Given the description of an element on the screen output the (x, y) to click on. 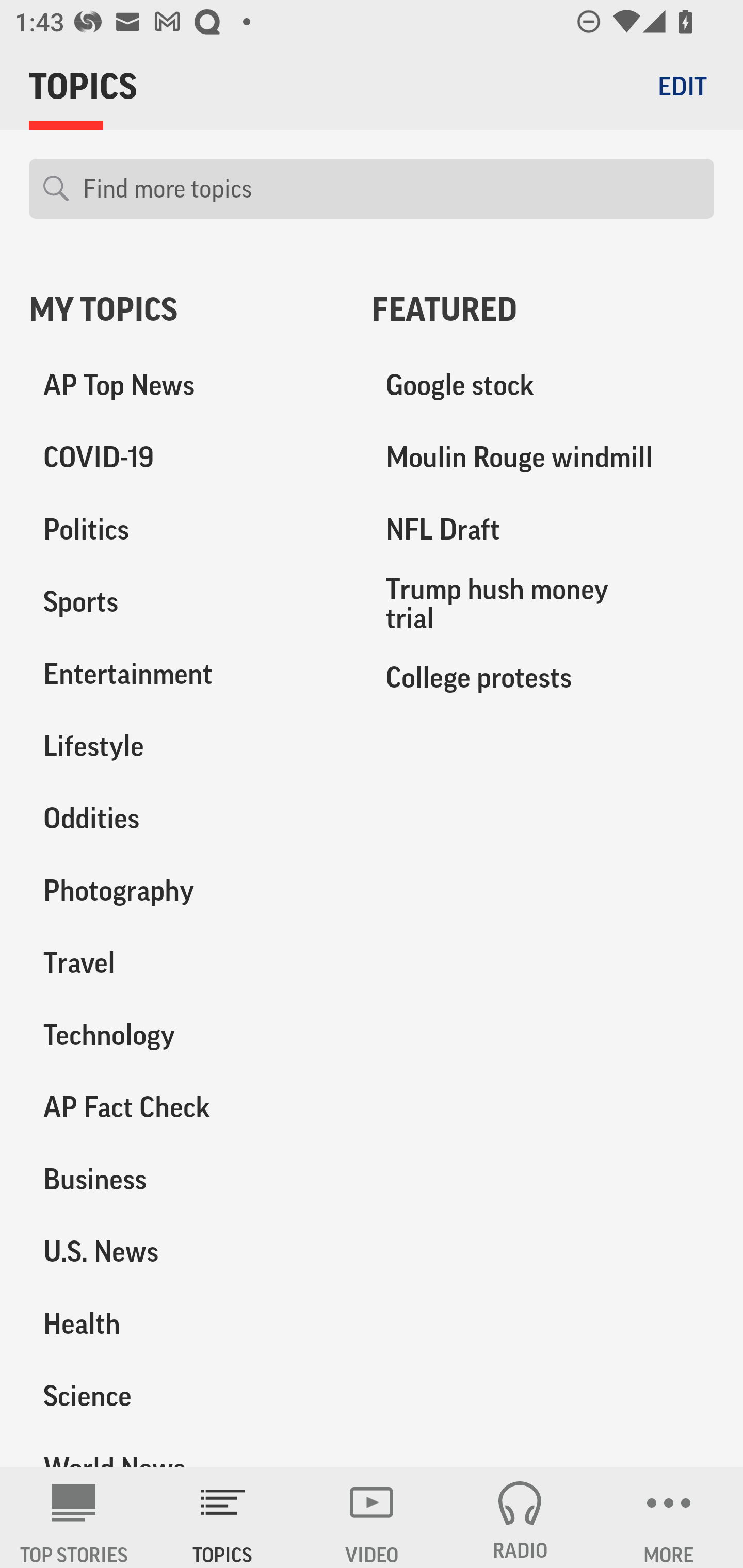
EDIT (682, 86)
Find more topics (391, 188)
AP Top News (185, 385)
Google stock (542, 385)
COVID-19 (185, 457)
Moulin Rouge windmill (542, 457)
Politics (185, 529)
NFL Draft (542, 529)
Sports (185, 602)
Trump hush money trial (542, 603)
Entertainment (185, 674)
College protests (542, 677)
Lifestyle (185, 746)
Oddities (185, 818)
Photography (185, 890)
Travel (185, 962)
Technology (185, 1034)
AP Fact Check (185, 1106)
Business (185, 1179)
U.S. News (185, 1251)
Health (185, 1323)
Science (185, 1395)
AP News TOP STORIES (74, 1517)
TOPICS (222, 1517)
VIDEO (371, 1517)
RADIO (519, 1517)
MORE (668, 1517)
